Given the description of an element on the screen output the (x, y) to click on. 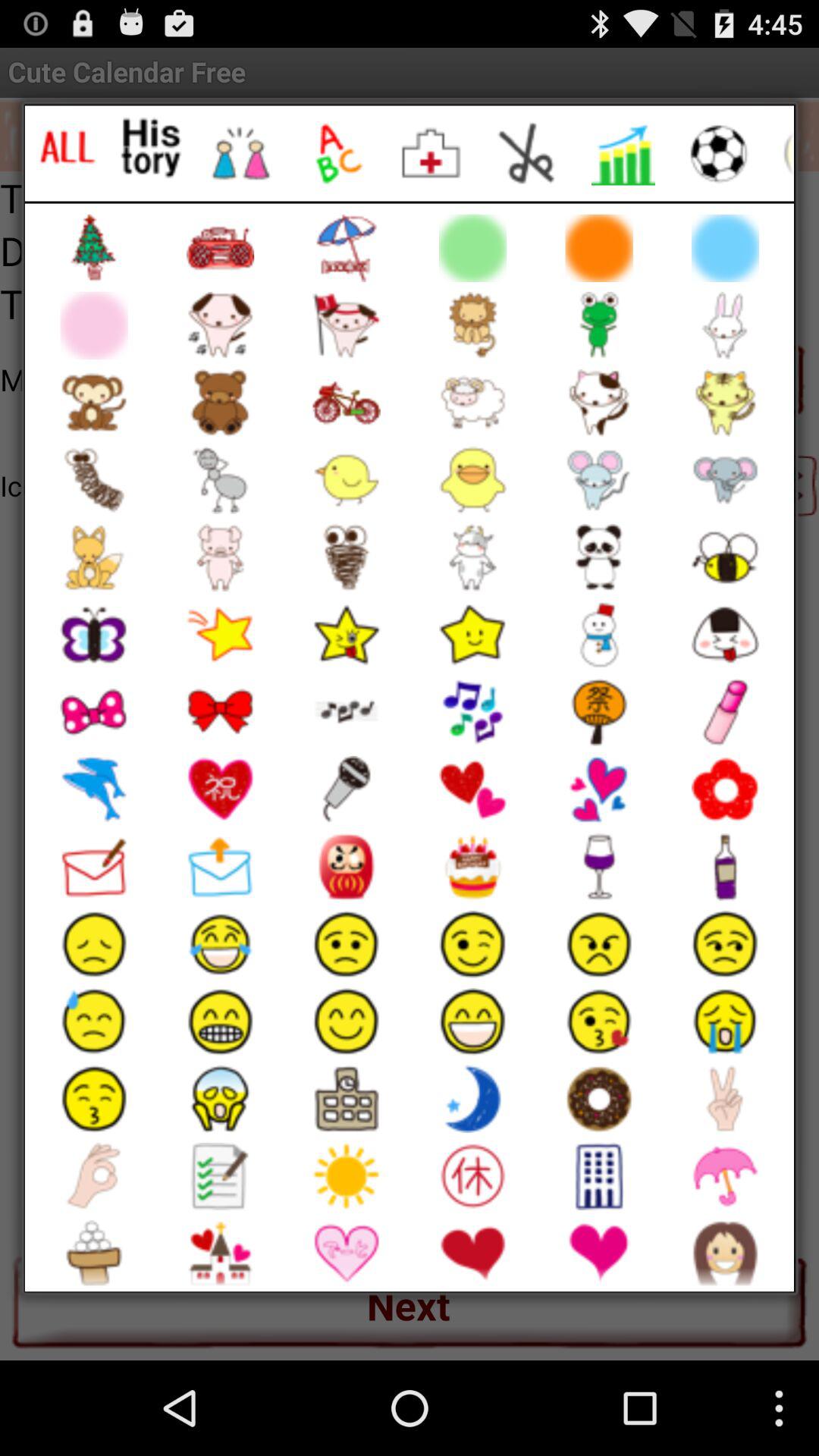
show letters a z (336, 153)
